Given the description of an element on the screen output the (x, y) to click on. 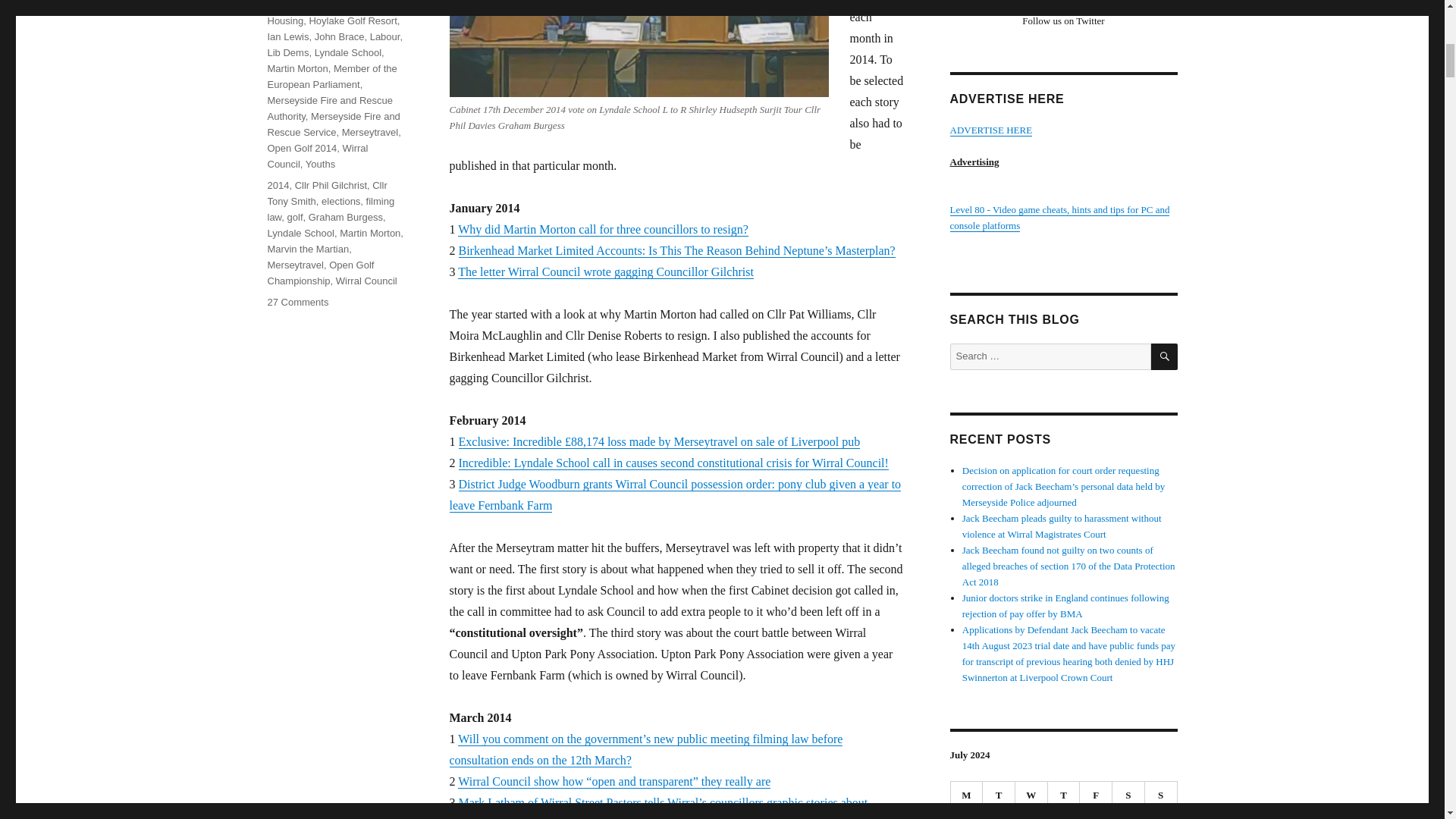
The letter Wirral Council wrote gagging Councillor Gilchrist (606, 271)
Why did Martin Morton call for three councillors to resign? (603, 228)
